Given the description of an element on the screen output the (x, y) to click on. 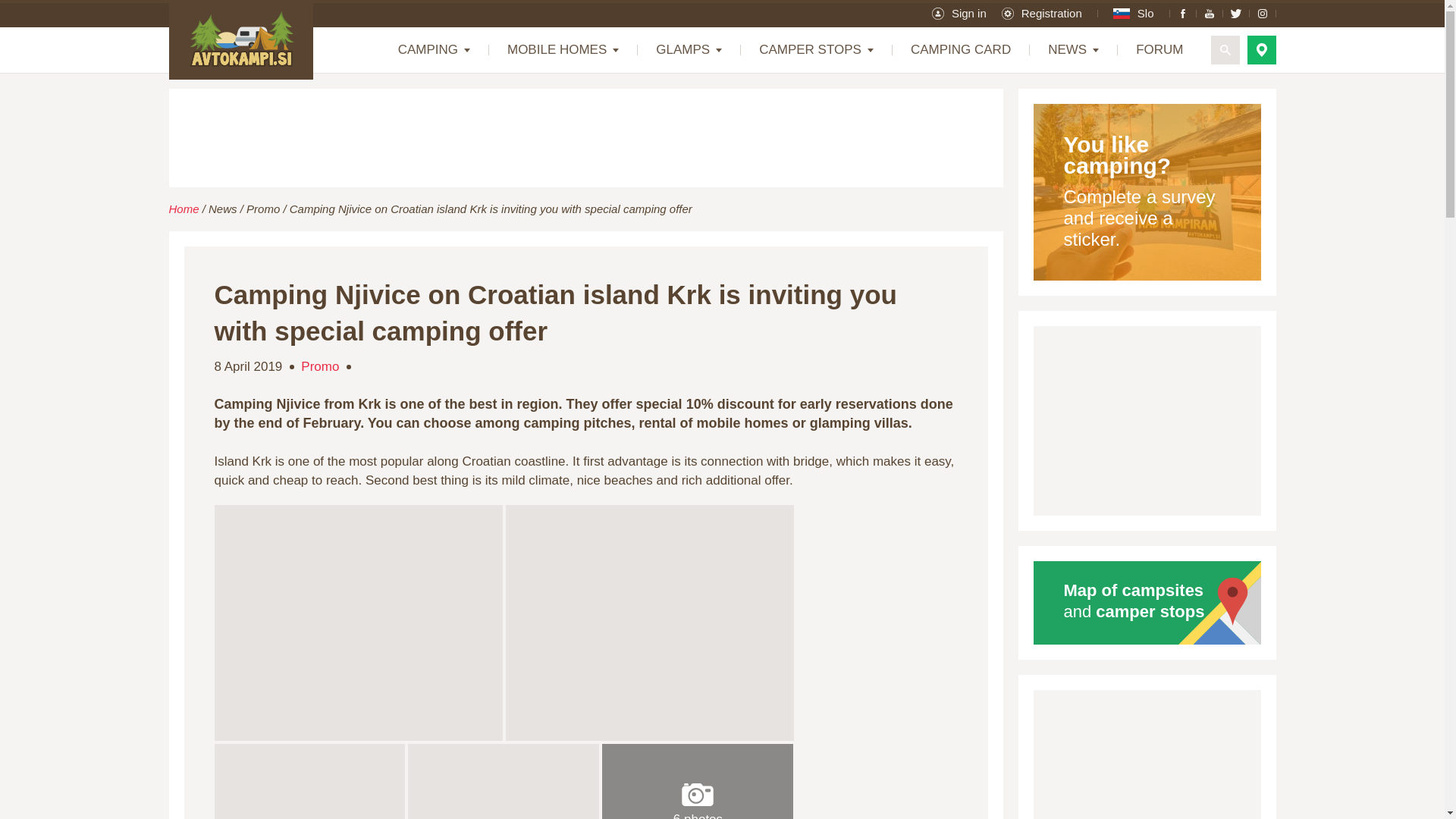
CAMPING (433, 50)
Search (1224, 50)
YouTube (1209, 13)
Slo (1133, 13)
Sign in (959, 13)
Follow us via Twitter (1236, 13)
Facebook (1182, 13)
Avtokampi.si (240, 39)
Follow us on YouTubu (1209, 13)
Slovenski (1133, 13)
Instagram (1261, 13)
Twitter (1236, 13)
Follow us on Facebook (1182, 13)
Registration (1041, 13)
Home (240, 39)
